Given the description of an element on the screen output the (x, y) to click on. 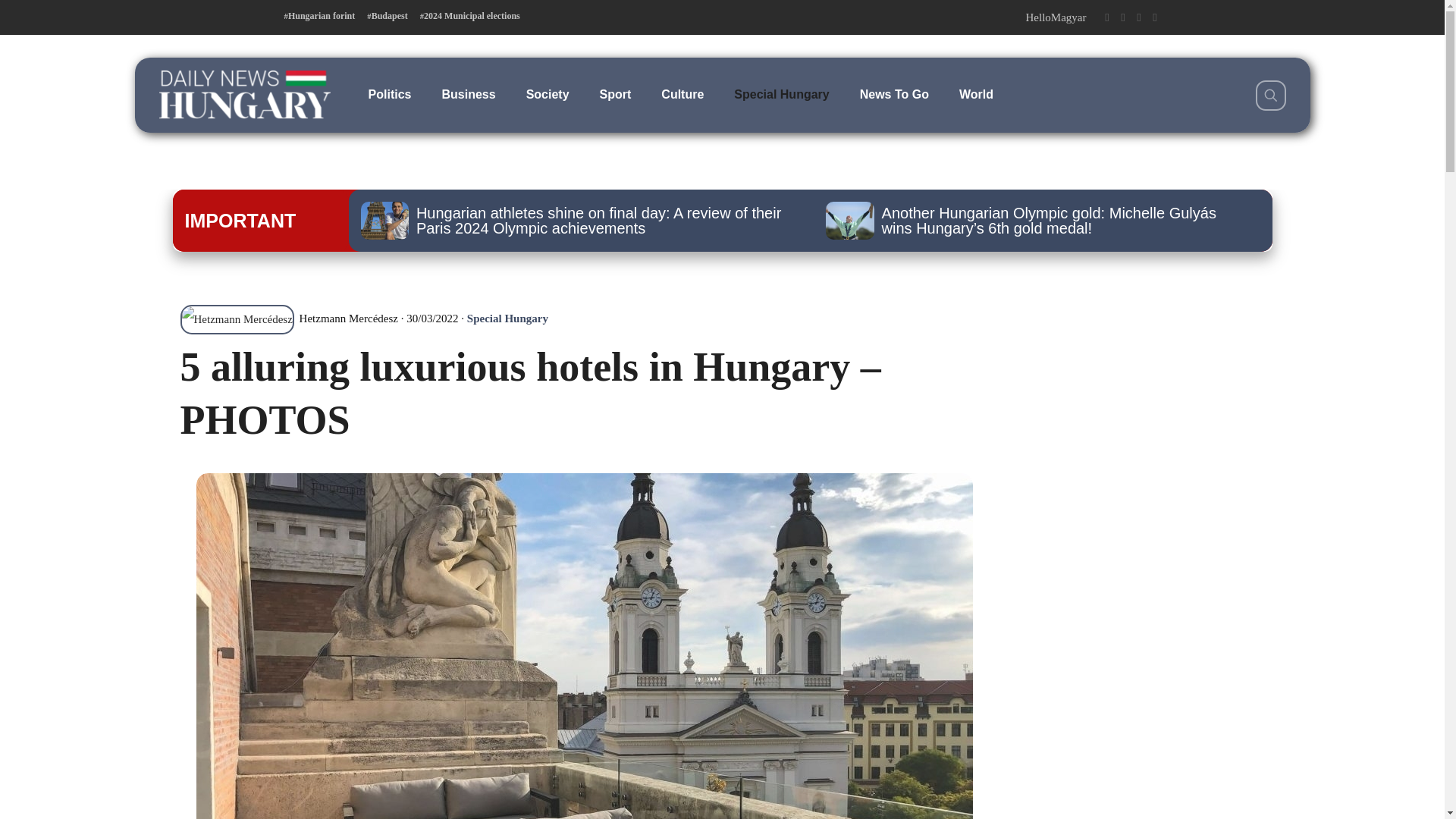
Special Hungary (507, 318)
Facebook (1106, 17)
Politics (389, 94)
2024 Municipal elections (469, 15)
Special Hungary (781, 94)
HelloMagyar (1055, 17)
Instagram (1138, 17)
News To Go (893, 94)
Culture (682, 94)
